Given the description of an element on the screen output the (x, y) to click on. 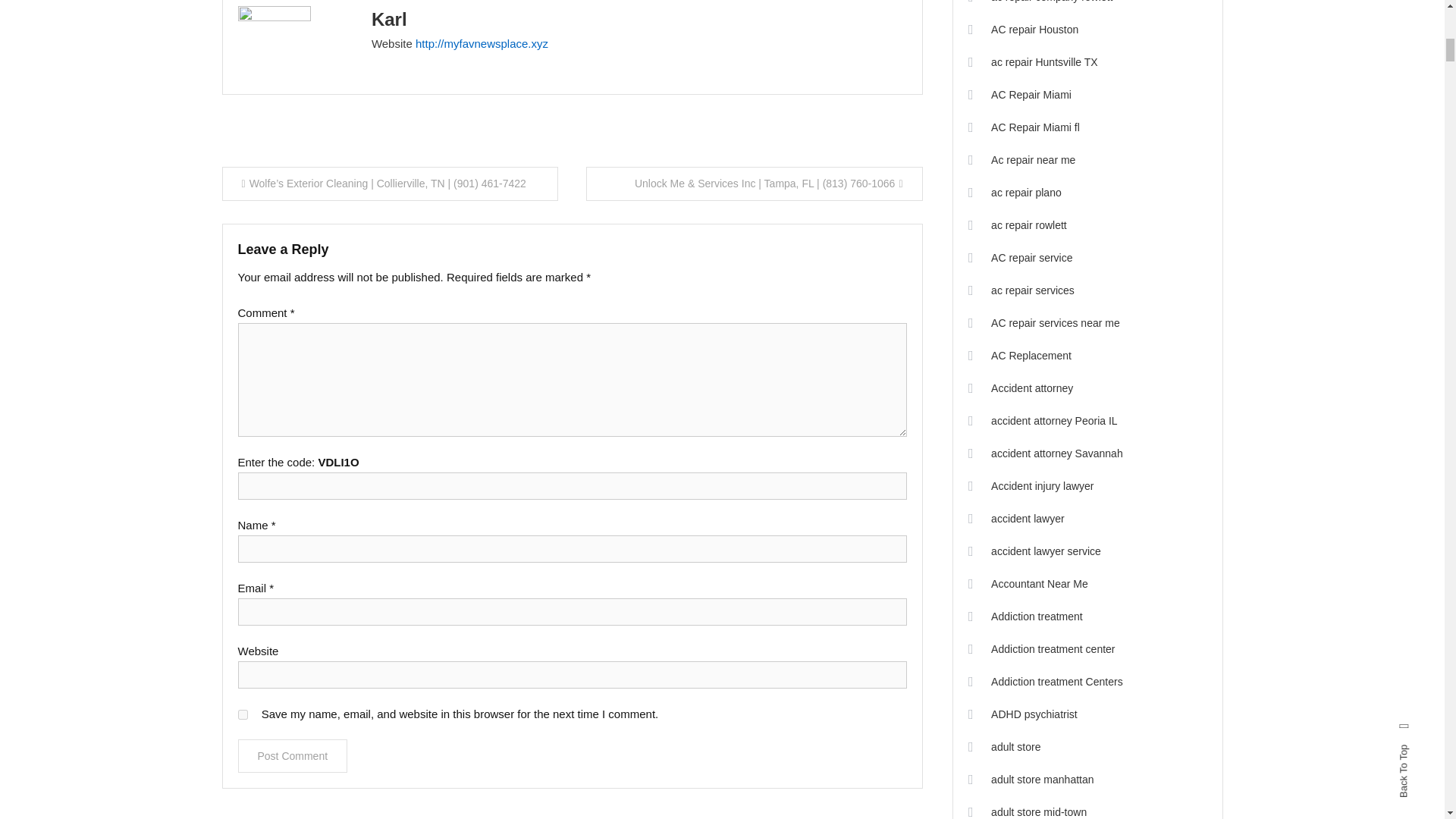
Post Comment (292, 756)
yes (242, 714)
Posts by Karl (389, 19)
